Given the description of an element on the screen output the (x, y) to click on. 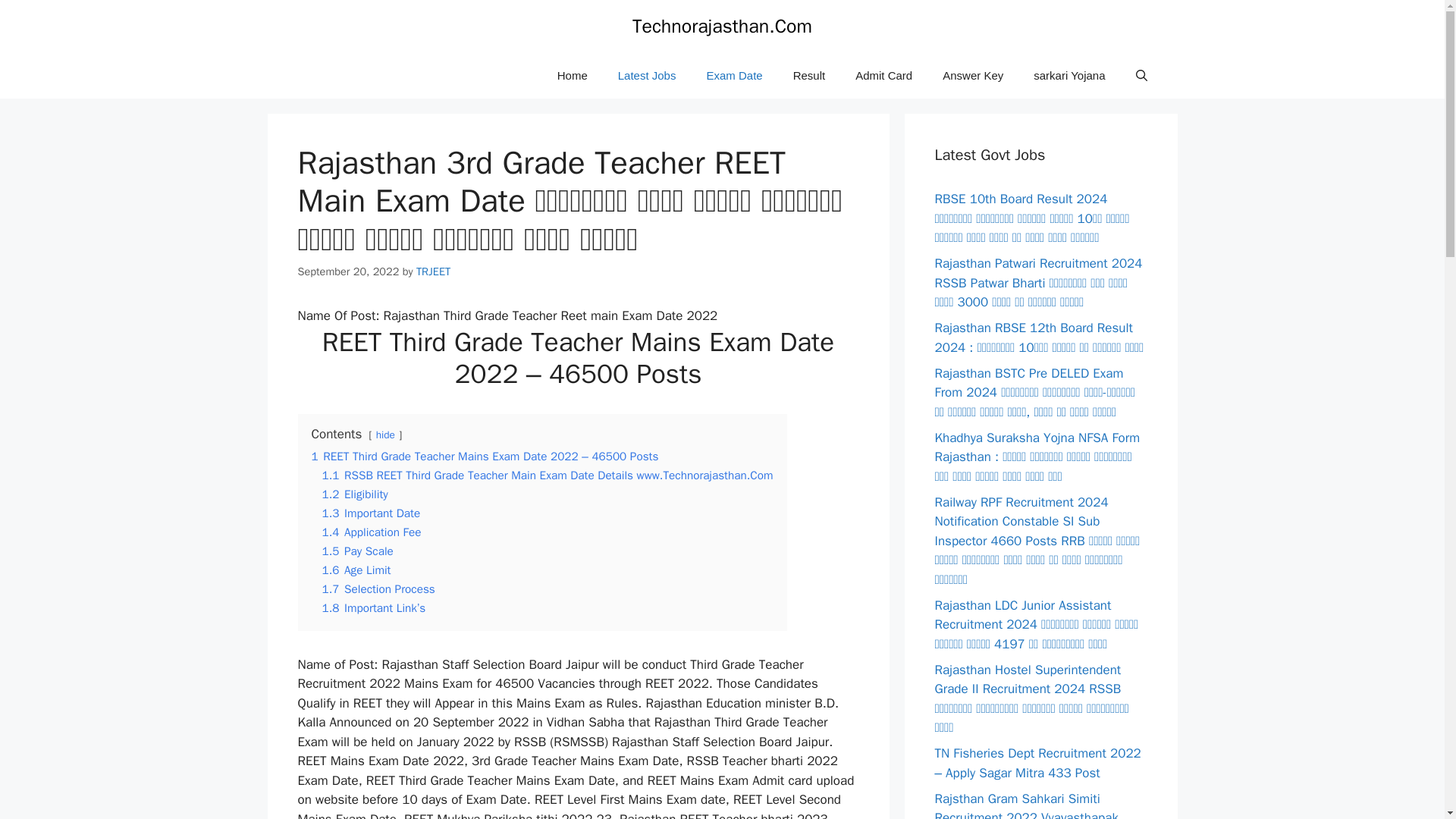
hide (384, 434)
Exam Date (733, 75)
Latest Jobs (646, 75)
1.3 Important Date (370, 513)
Admit Card (883, 75)
1.6 Age Limit (355, 570)
1.5 Pay Scale (357, 550)
Result (809, 75)
TRJEET (432, 271)
1.4 Application Fee (370, 531)
